Given the description of an element on the screen output the (x, y) to click on. 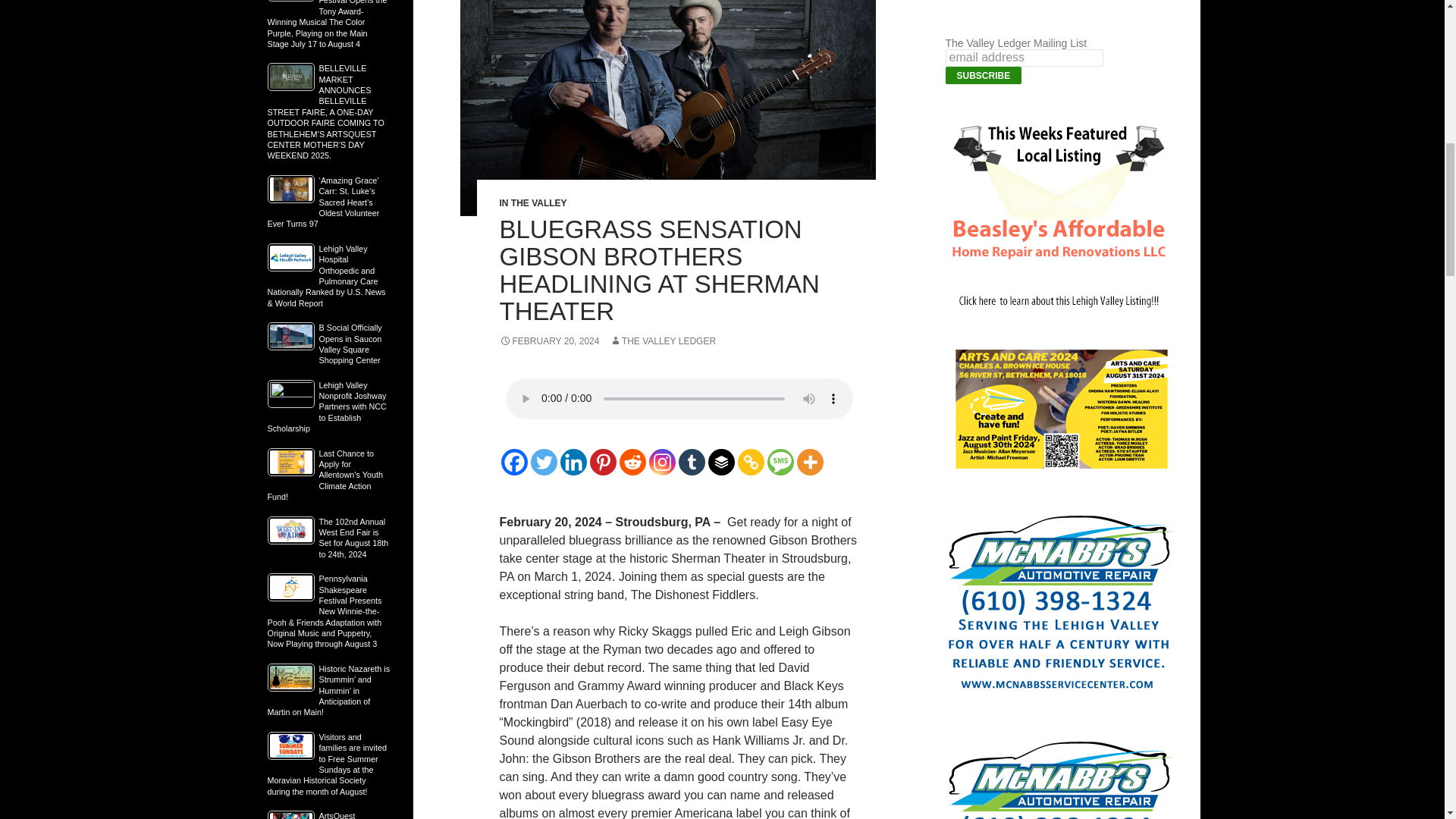
More (809, 461)
Linkedin (572, 461)
Facebook (513, 461)
FEBRUARY 20, 2024 (548, 340)
Copy Link (749, 461)
Tumblr (691, 461)
IN THE VALLEY (532, 203)
Subscribe (983, 75)
Buffer (721, 461)
Twitter (544, 461)
SMS (780, 461)
Reddit (631, 461)
Instagram (662, 461)
Pinterest (602, 461)
